Given the description of an element on the screen output the (x, y) to click on. 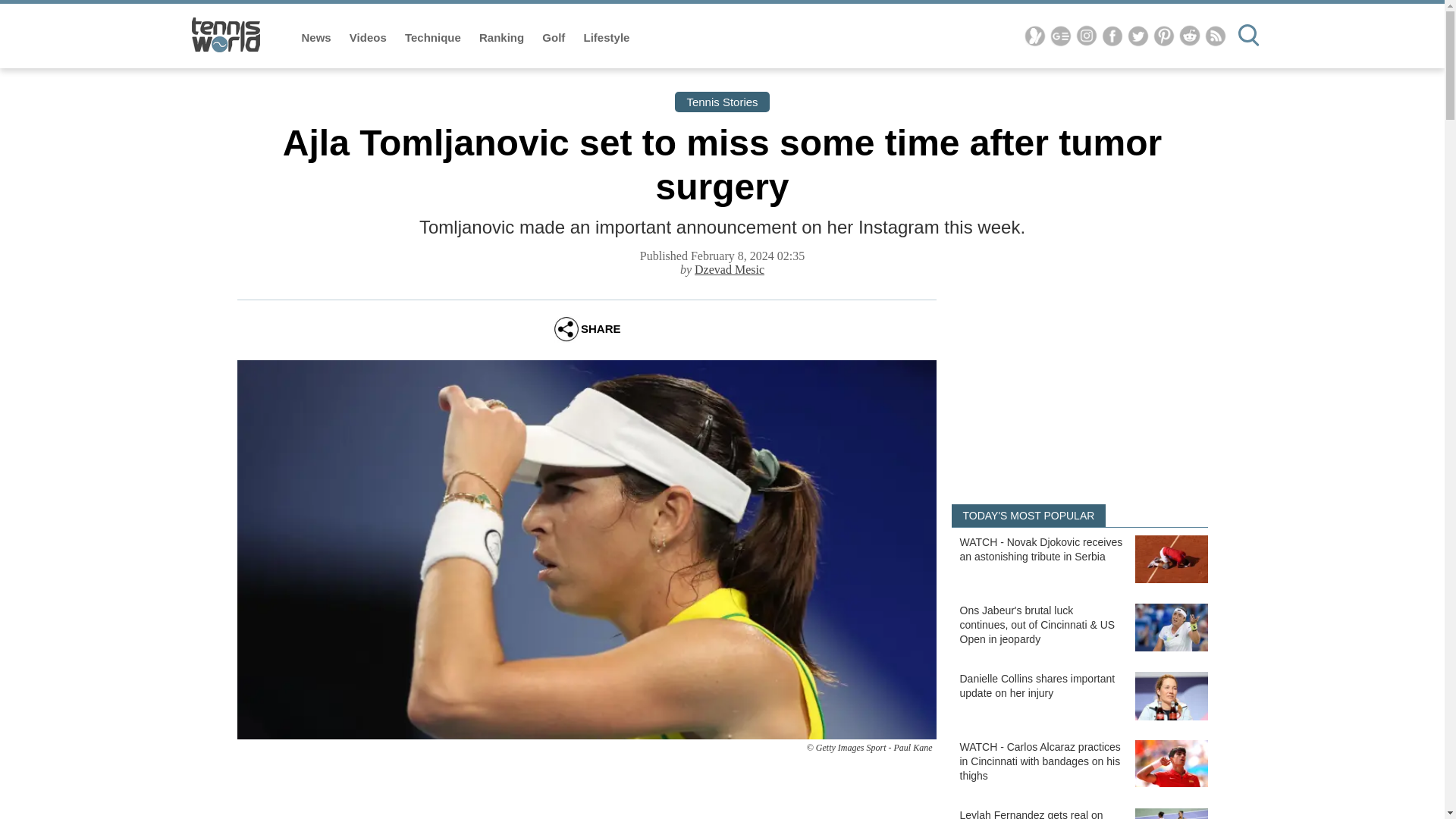
News (317, 37)
Videos (369, 37)
Lifestyle (606, 37)
Ranking (503, 37)
Golf (554, 37)
Technique (434, 37)
